Given the description of an element on the screen output the (x, y) to click on. 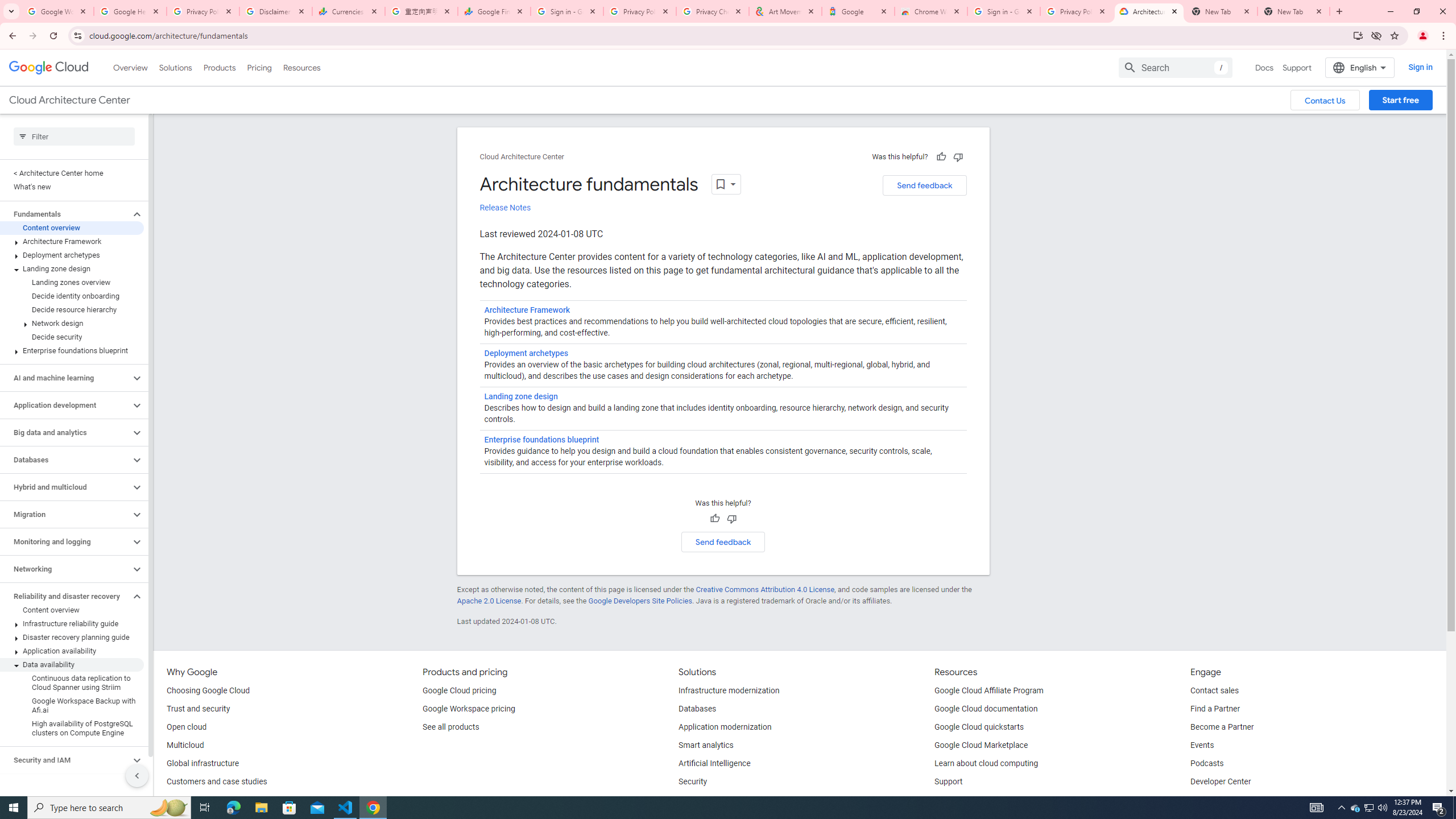
Support (948, 782)
Hide side navigation (136, 775)
Apache 2.0 License (489, 600)
Currencies - Google Finance (348, 11)
Pricing (259, 67)
Google Cloud documentation (986, 709)
Google Cloud Affiliate Program (988, 691)
Landing zone design (72, 269)
Storage (64, 787)
Type to filter (74, 136)
Decide security (72, 336)
Databases (697, 709)
Sign in - Google Accounts (566, 11)
